Given the description of an element on the screen output the (x, y) to click on. 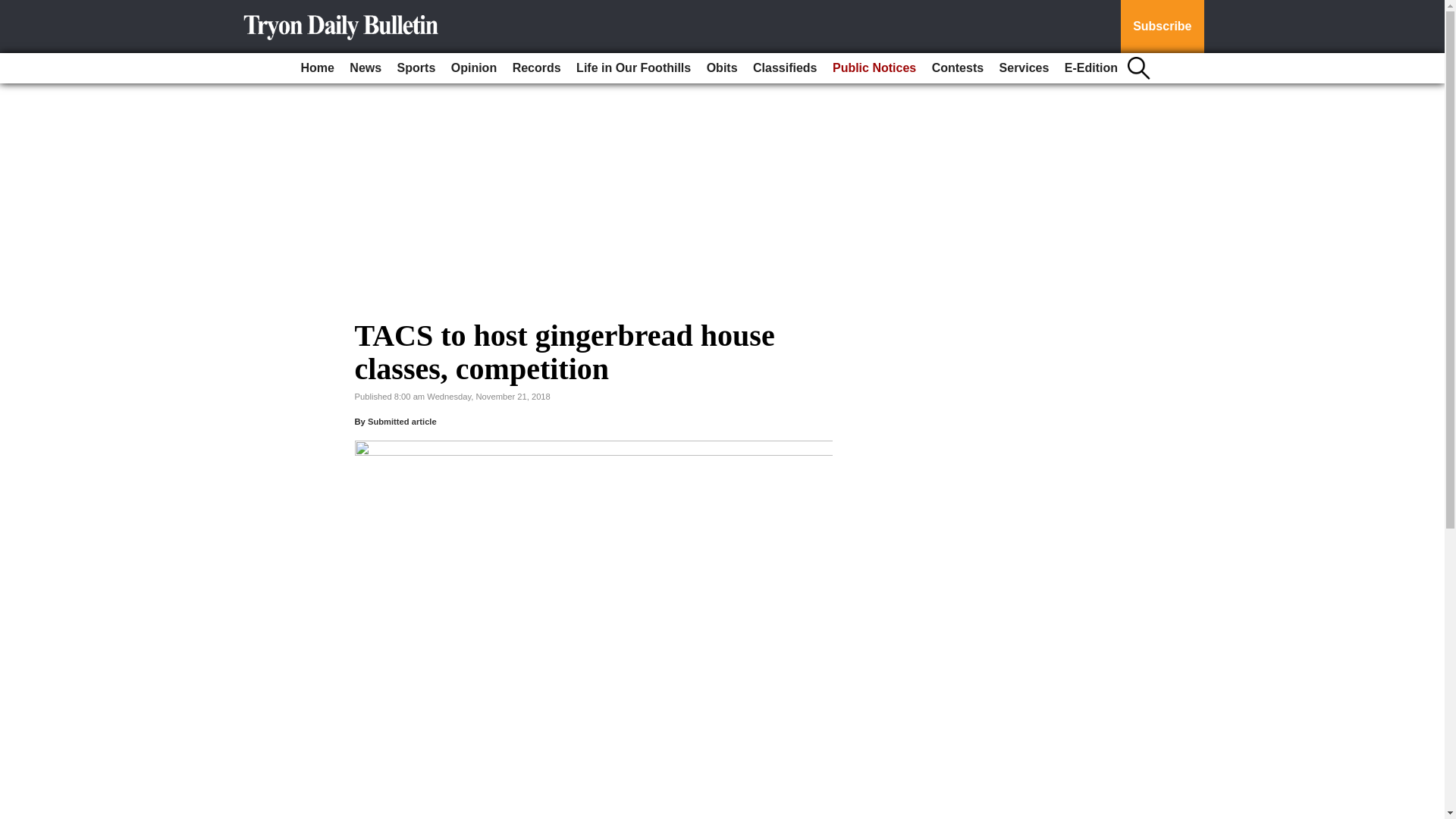
Contests (958, 68)
News (365, 68)
Home (316, 68)
Submitted article (402, 420)
Life in Our Foothills (633, 68)
Services (1023, 68)
Obits (722, 68)
Opinion (473, 68)
Records (536, 68)
Go (13, 9)
